Given the description of an element on the screen output the (x, y) to click on. 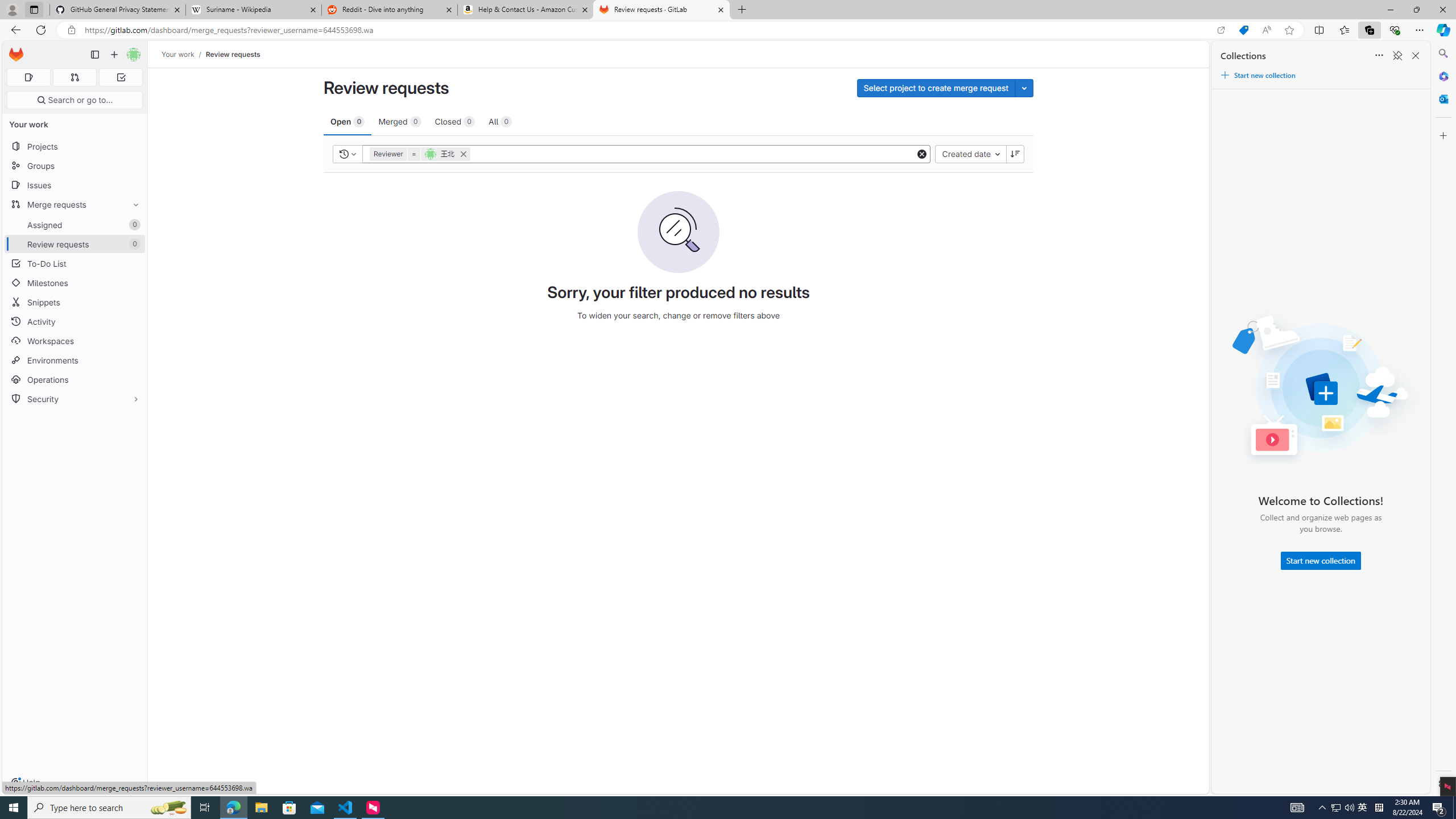
Class: input-token (693, 153)
Review requests 0 (74, 244)
Class: s16 dropdown-menu-toggle-icon (353, 153)
Remove search filter (460, 153)
Review requests (232, 53)
Environments (74, 359)
